Given the description of an element on the screen output the (x, y) to click on. 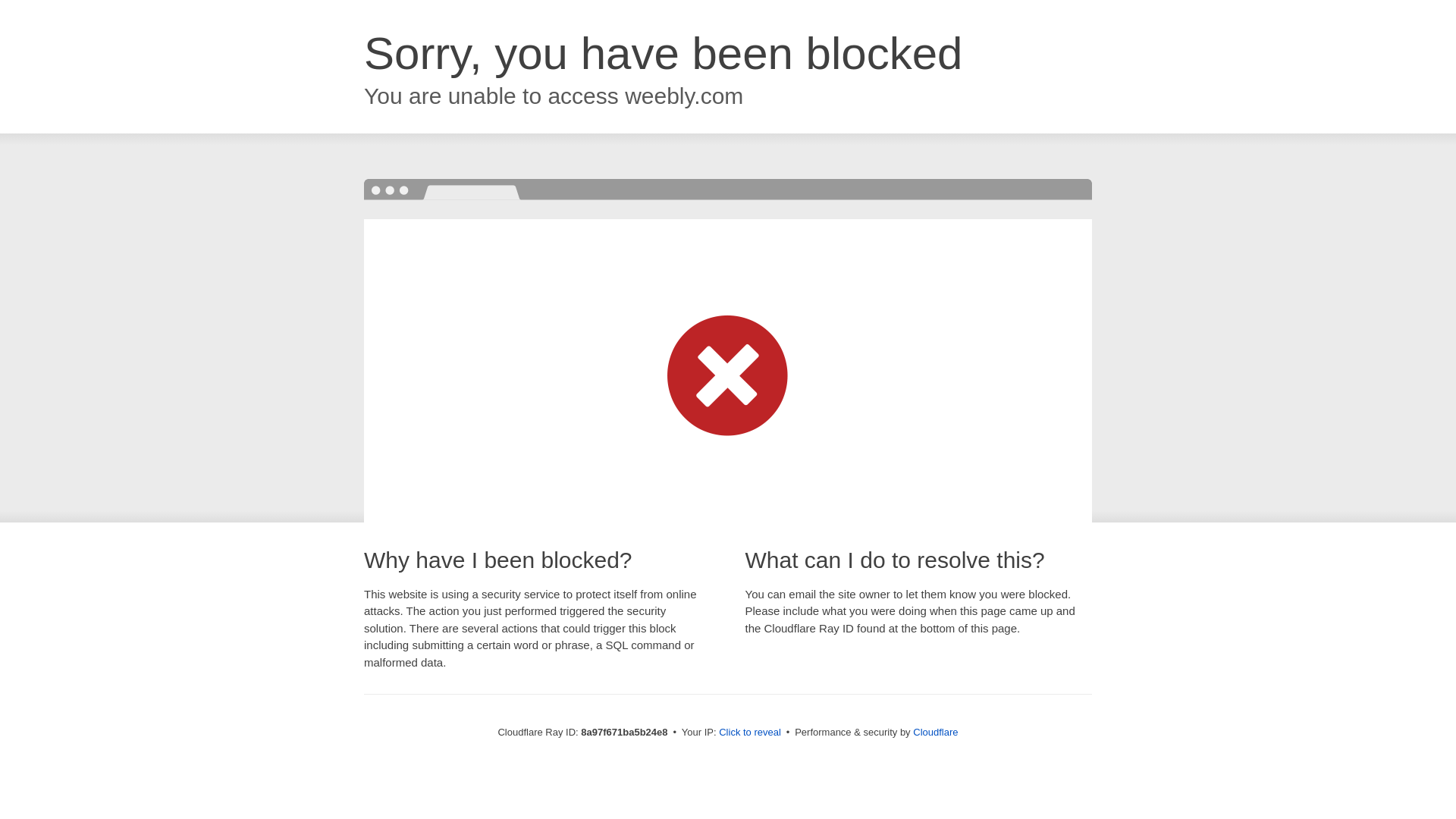
Click to reveal (749, 732)
Cloudflare (935, 731)
